Given the description of an element on the screen output the (x, y) to click on. 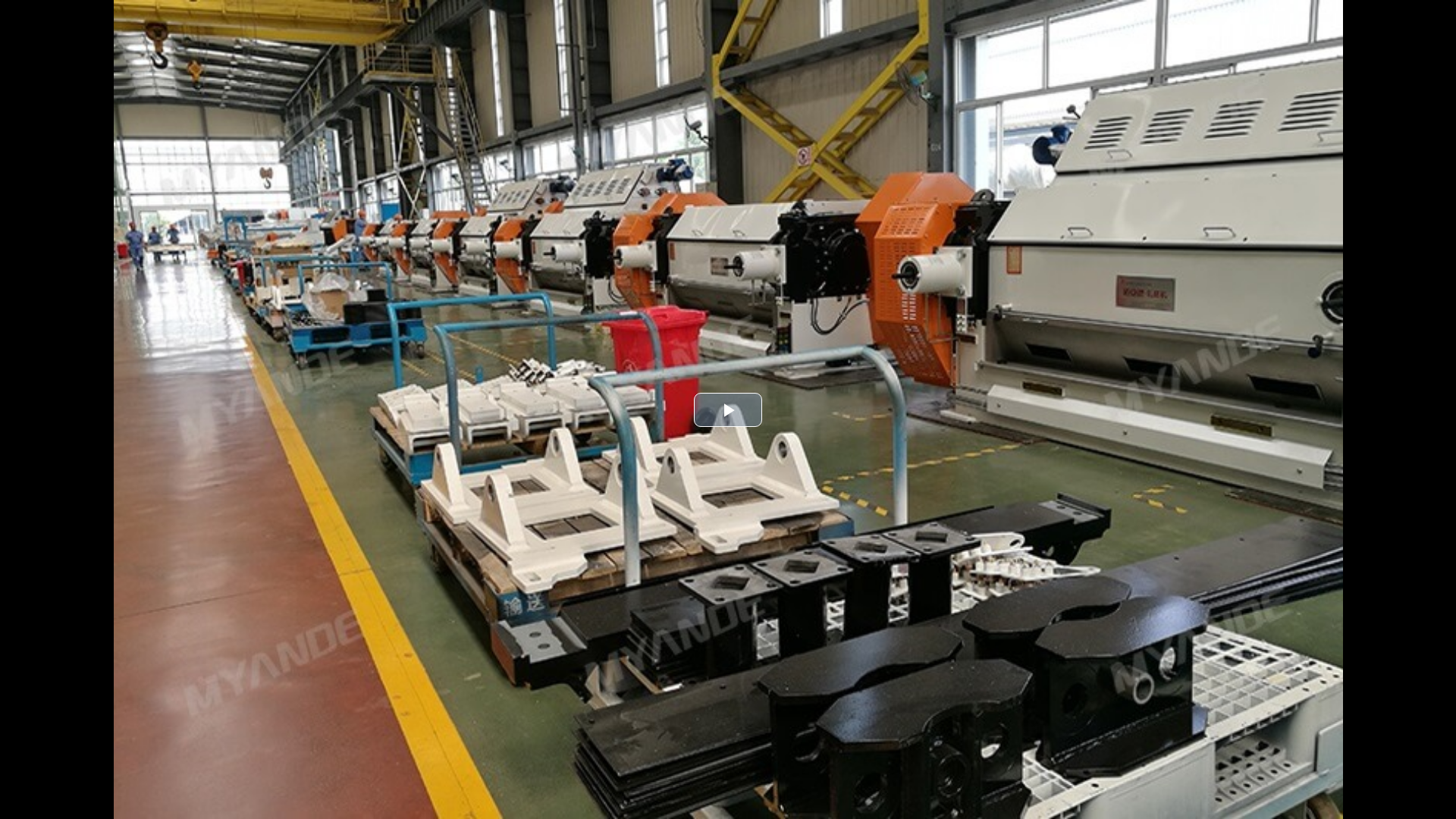
Play Video Element type: text (727, 409)
